Given the description of an element on the screen output the (x, y) to click on. 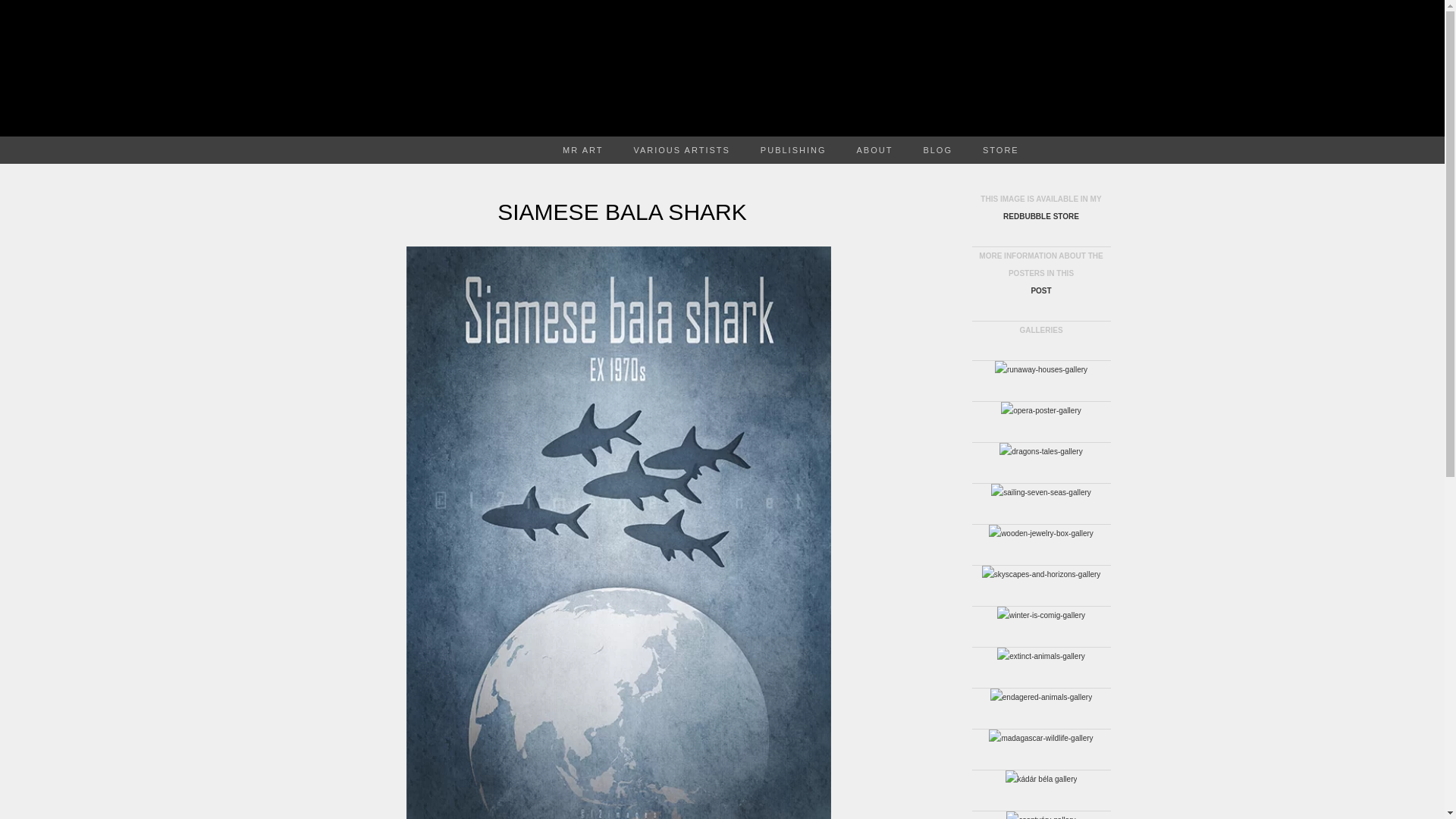
Moira Risen 12 images (722, 68)
STORE (1000, 149)
MR ART (582, 149)
Search (16, 12)
BLOG (937, 149)
VARIOUS ARTISTS (680, 149)
PUBLISHING (793, 149)
ABOUT (874, 149)
